Given the description of an element on the screen output the (x, y) to click on. 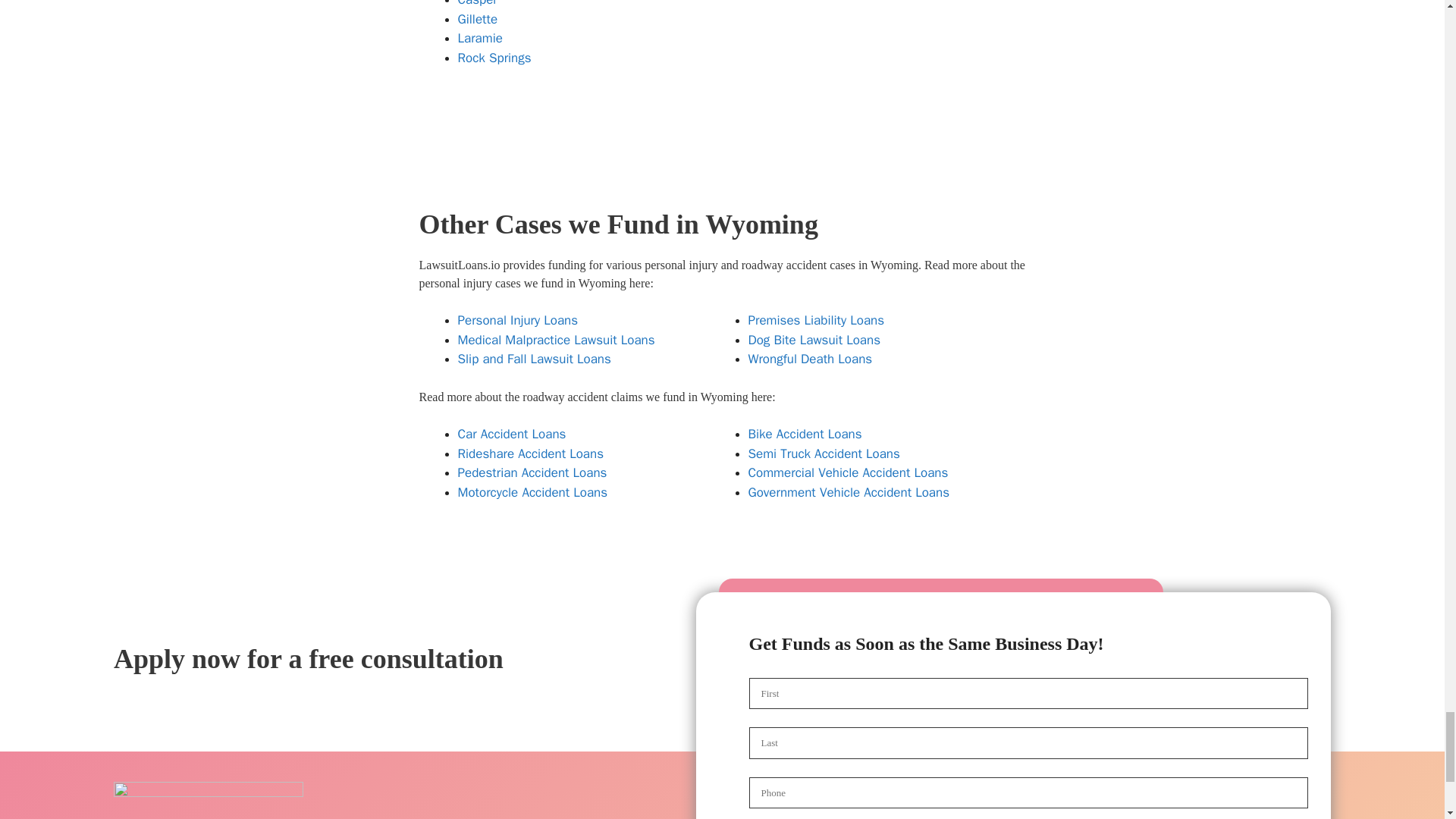
Personal Injury Loans (518, 320)
Casper (477, 3)
Rock Springs (494, 57)
Gillette (477, 19)
Laramie (480, 37)
